Given the description of an element on the screen output the (x, y) to click on. 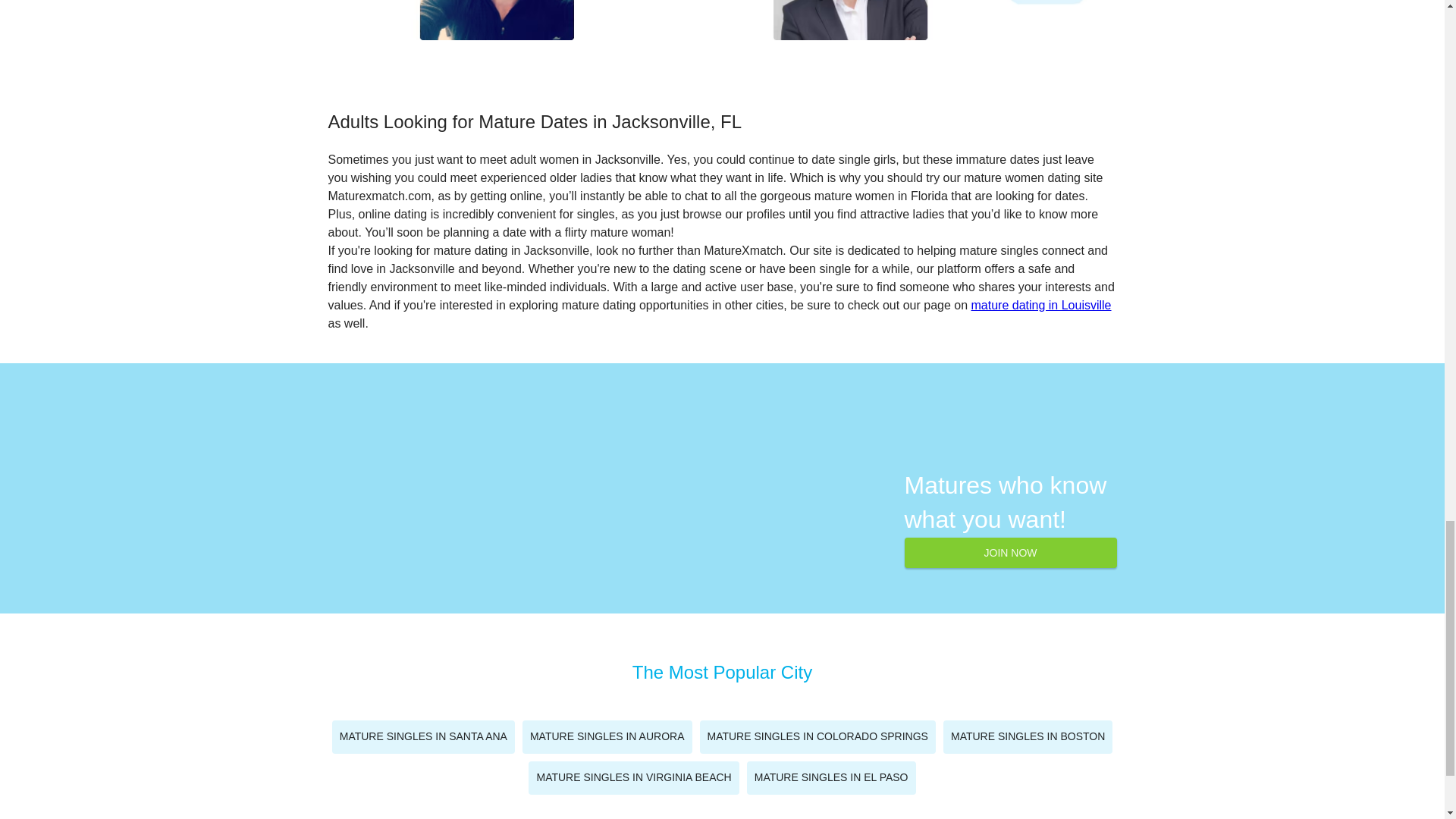
MATURE SINGLES IN AURORA (607, 736)
Mature singles in Santa Ana (423, 736)
MATURE SINGLES IN EL PASO (830, 777)
Mature Singles in Aurora (607, 736)
mature dating in Louisville (1041, 305)
MATURE SINGLES IN SANTA ANA (423, 736)
Mature singles in El Paso (830, 777)
JOIN NOW (1010, 552)
MATURE SINGLES IN VIRGINIA BEACH (633, 777)
Mature Singles in Boston (1027, 736)
Mature singles in Virginia Beach (633, 777)
Mature singles in Colorado Springs (816, 736)
MATURE SINGLES IN BOSTON (1027, 736)
MATURE SINGLES IN COLORADO SPRINGS (816, 736)
